Given the description of an element on the screen output the (x, y) to click on. 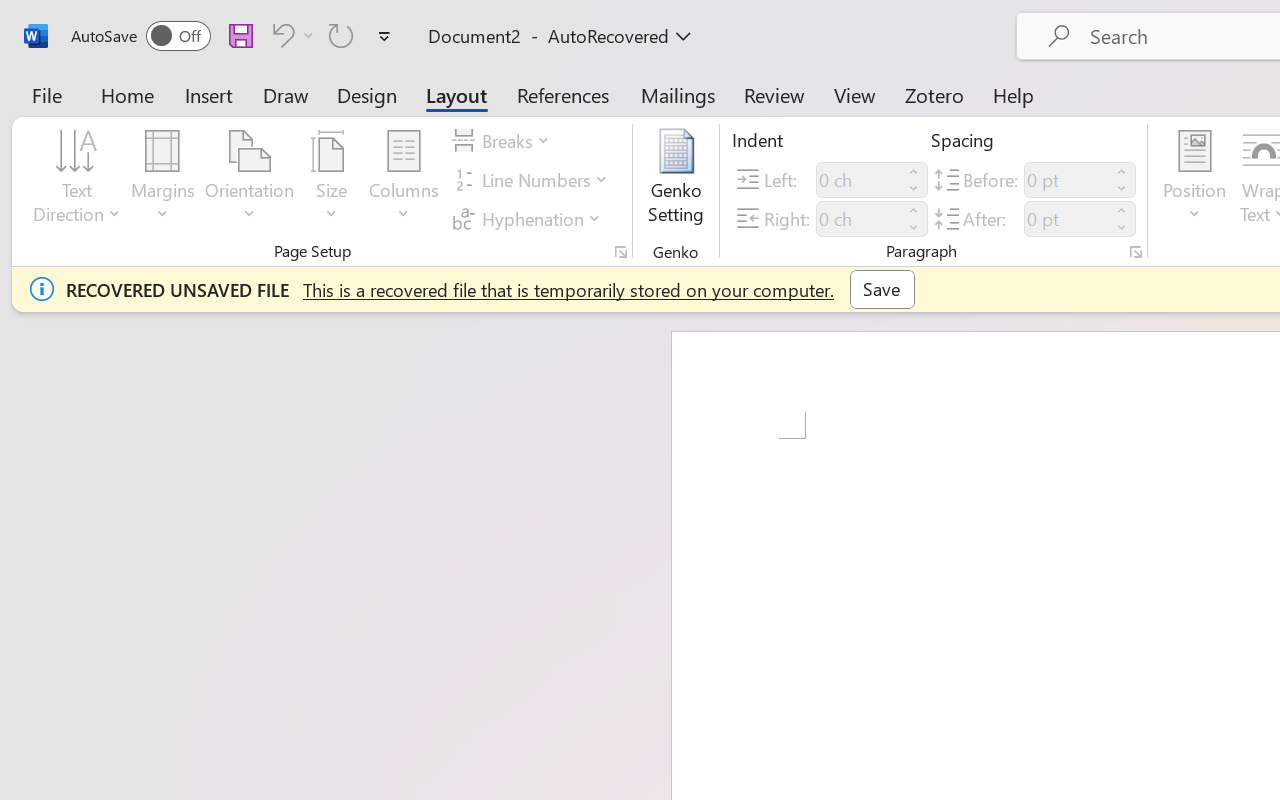
Orientation (250, 179)
Hyphenation (529, 218)
Line Numbers (532, 179)
Less (1121, 227)
More (1121, 210)
Can't Undo (290, 35)
Page Setup... (621, 252)
